Given the description of an element on the screen output the (x, y) to click on. 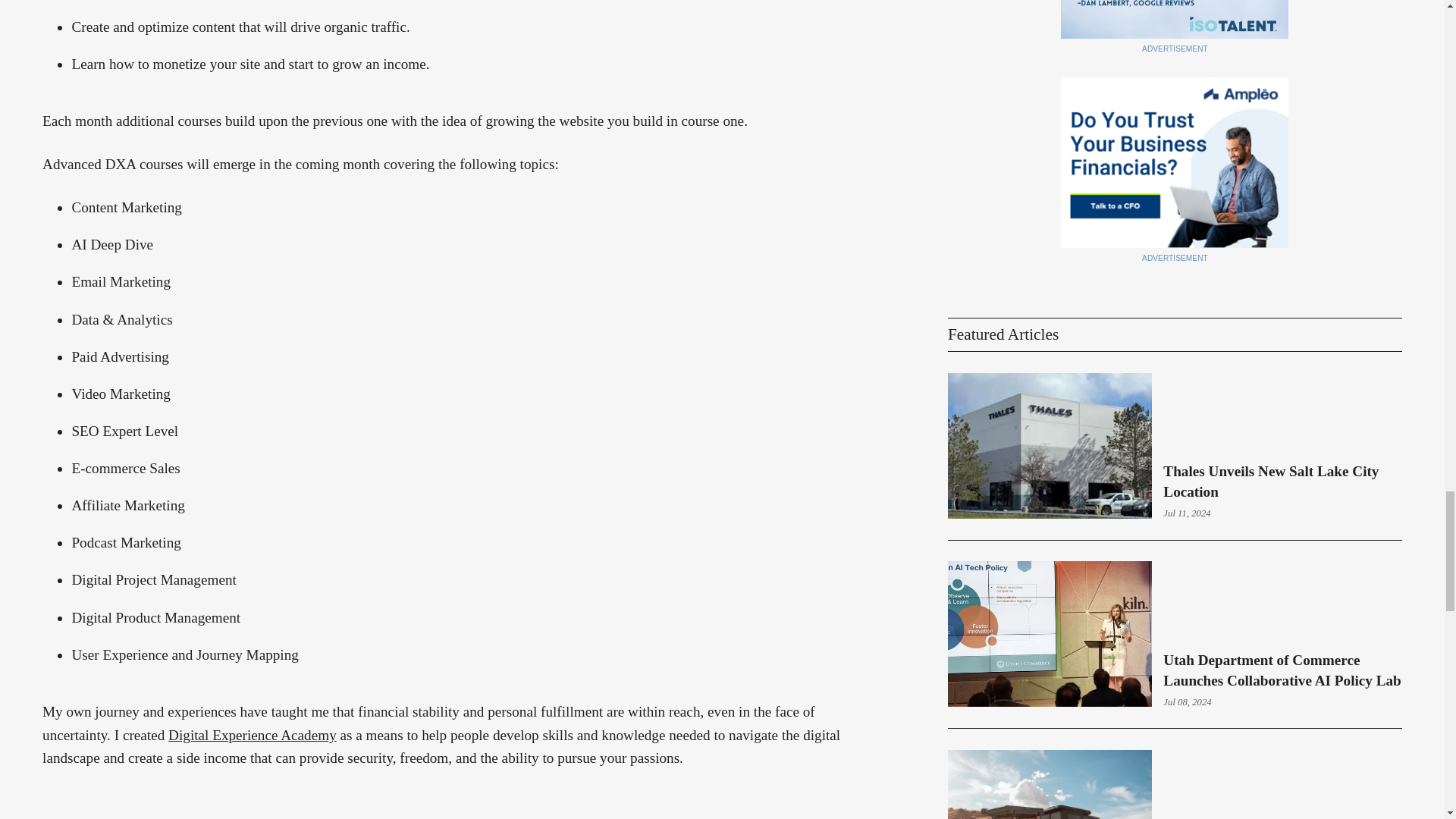
Digital Experience Academy (252, 734)
